Given the description of an element on the screen output the (x, y) to click on. 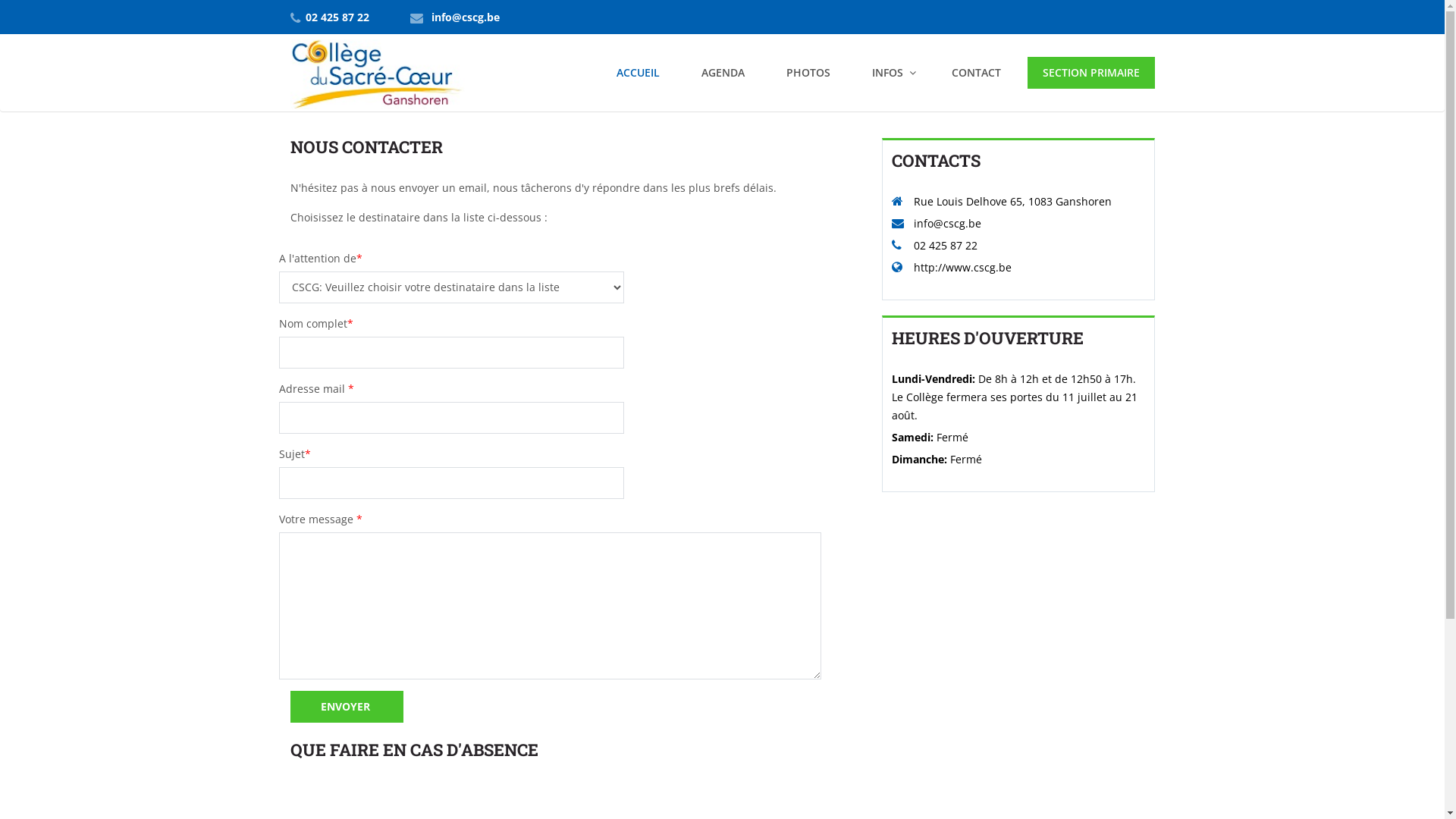
info@cscg.be Element type: text (464, 17)
Envoyer  Element type: text (345, 706)
ACCUEIL Element type: text (637, 72)
CONTACT Element type: text (975, 72)
INFOS Element type: text (890, 72)
http://www.cscg.be Element type: text (961, 267)
SECTION PRIMAIRE Element type: text (1090, 72)
PHOTOS Element type: text (807, 72)
info@cscg.be Element type: text (946, 223)
AGENDA Element type: text (722, 72)
